Given the description of an element on the screen output the (x, y) to click on. 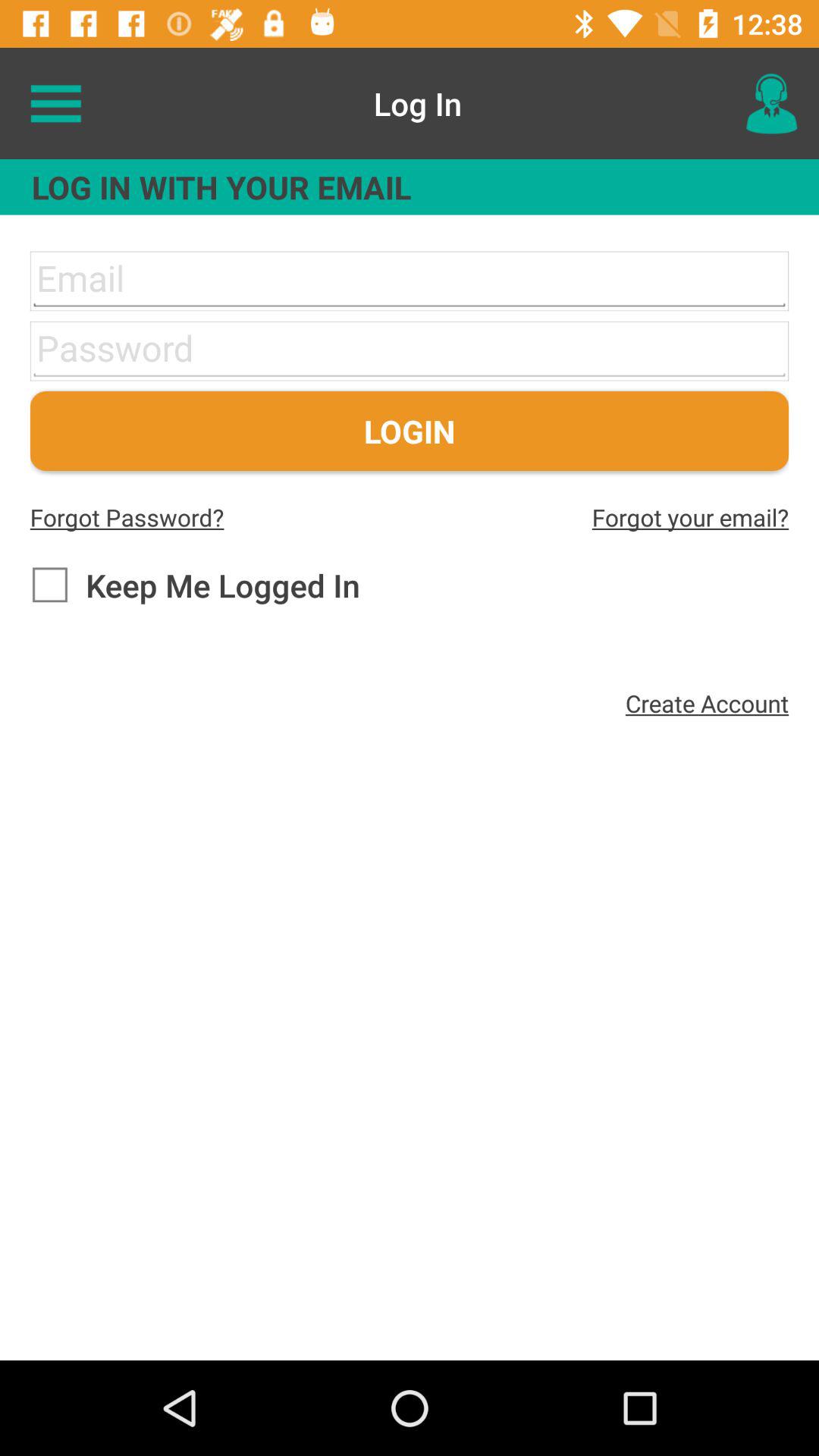
select the icon above log in with item (55, 103)
